Given the description of an element on the screen output the (x, y) to click on. 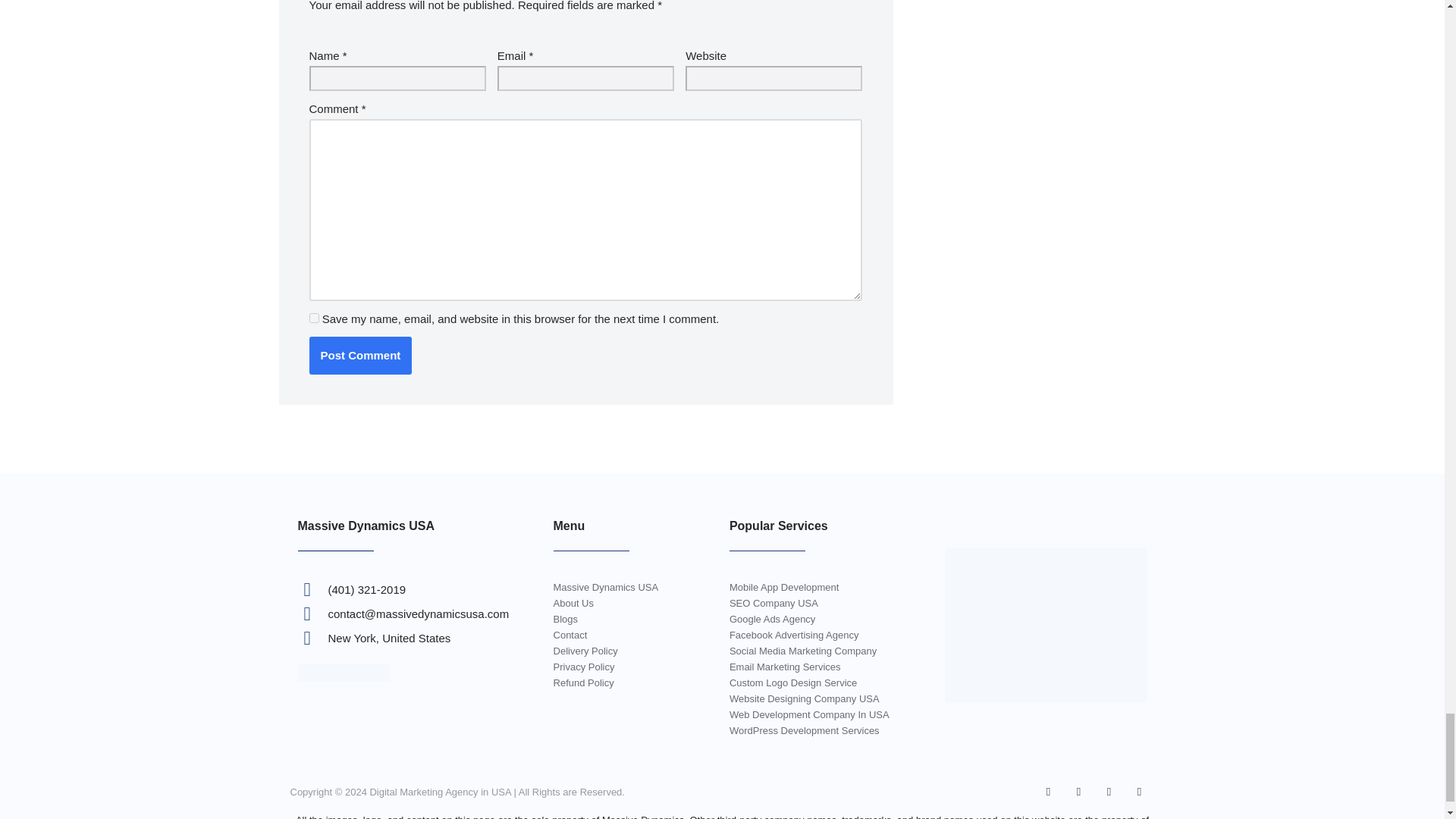
yes (313, 317)
Post Comment (360, 355)
DMCA.com Protection Status (342, 676)
